Given the description of an element on the screen output the (x, y) to click on. 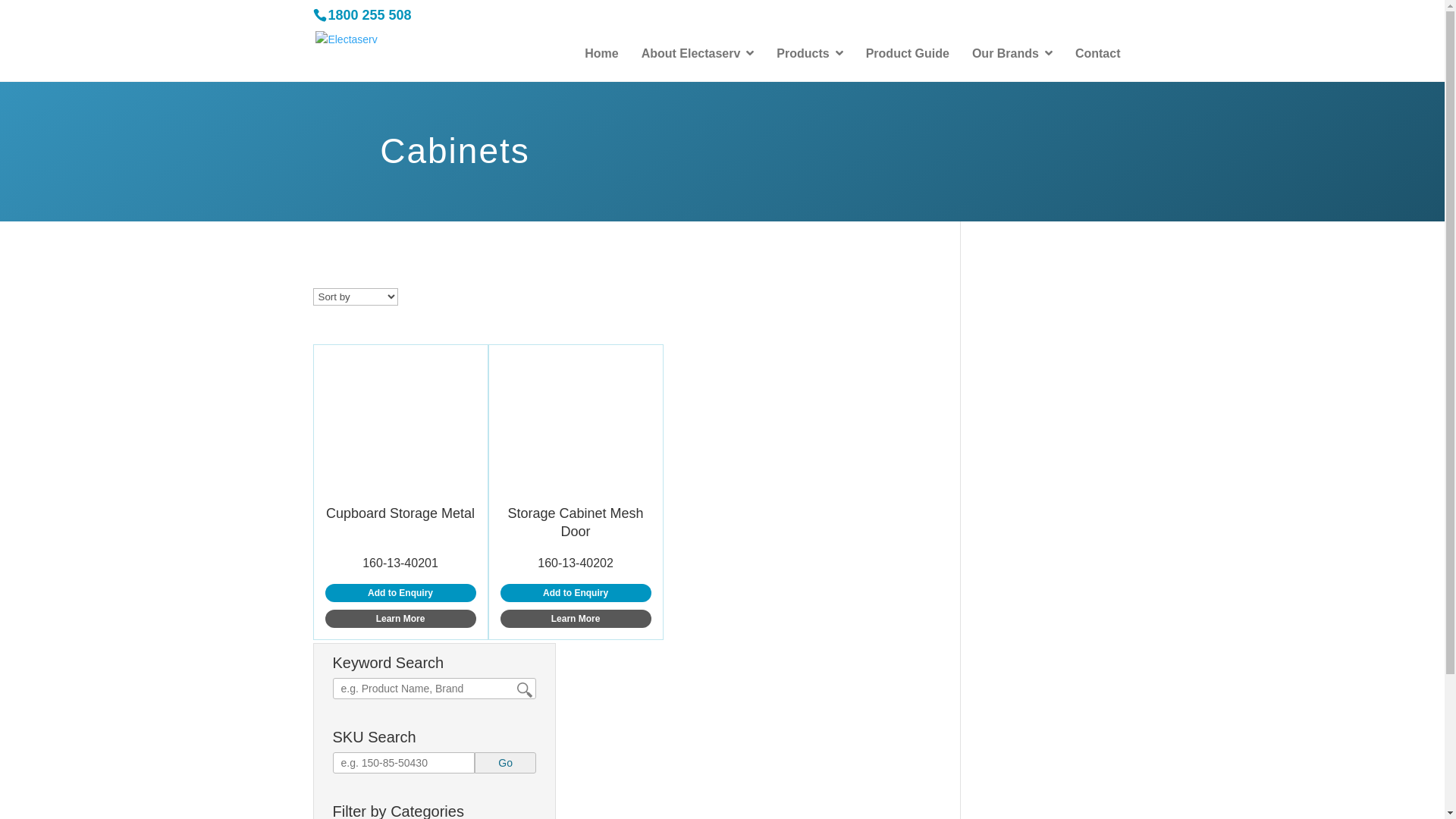
Add to Enquiry Element type: text (399, 592)
Product Guide Element type: text (907, 53)
About Electaserv Element type: text (697, 53)
1800 255 508 Element type: text (369, 14)
Home Element type: text (601, 53)
Learn More Element type: text (399, 618)
Our Brands Element type: text (1011, 53)
Contact Element type: text (1097, 53)
Learn More Element type: text (575, 618)
Products Element type: text (809, 53)
Add to Enquiry Element type: text (575, 592)
